Given the description of an element on the screen output the (x, y) to click on. 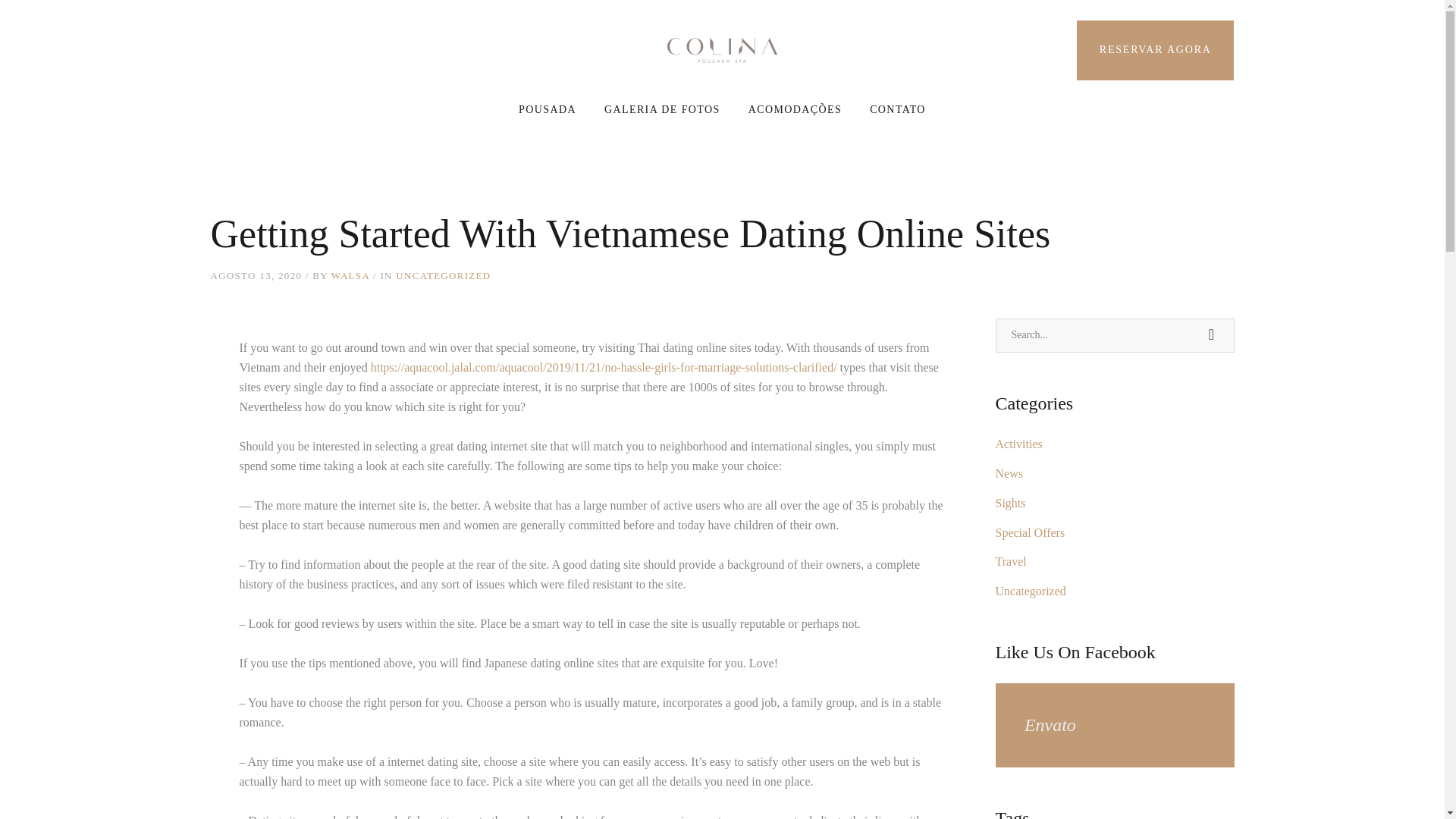
Uncategorized (1029, 590)
WALSA (350, 275)
Activities (1018, 443)
News (1008, 472)
POUSADA (547, 109)
Sights (1009, 502)
Travel (1010, 561)
UNCATEGORIZED (443, 275)
Envato (1050, 724)
RESERVAR AGORA (1155, 50)
